Given the description of an element on the screen output the (x, y) to click on. 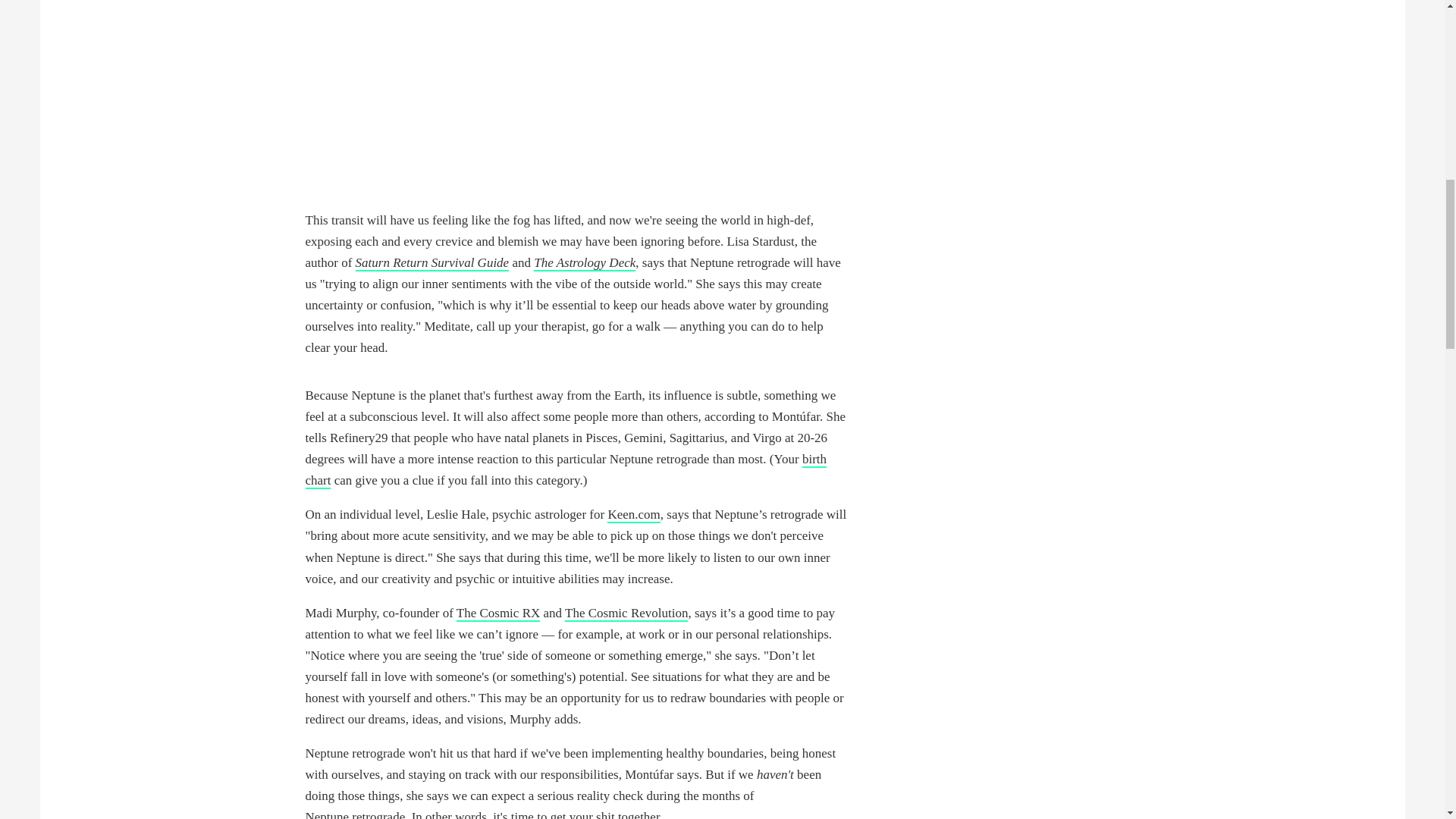
Saturn Return Survival Guide (432, 263)
birth chart (565, 470)
The Astrology Deck (584, 263)
The Cosmic RX (498, 613)
Keen.com (633, 514)
The Cosmic Revolution (625, 613)
